Given the description of an element on the screen output the (x, y) to click on. 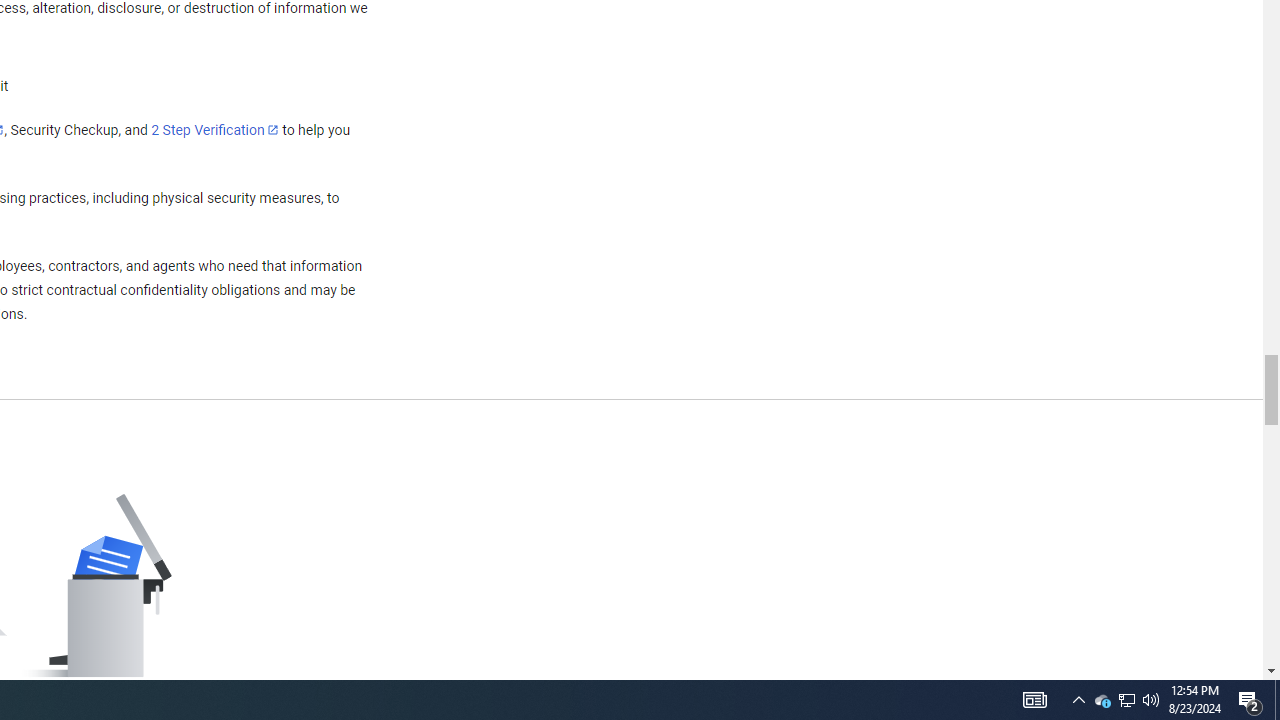
2 Step Verification (215, 129)
